Given the description of an element on the screen output the (x, y) to click on. 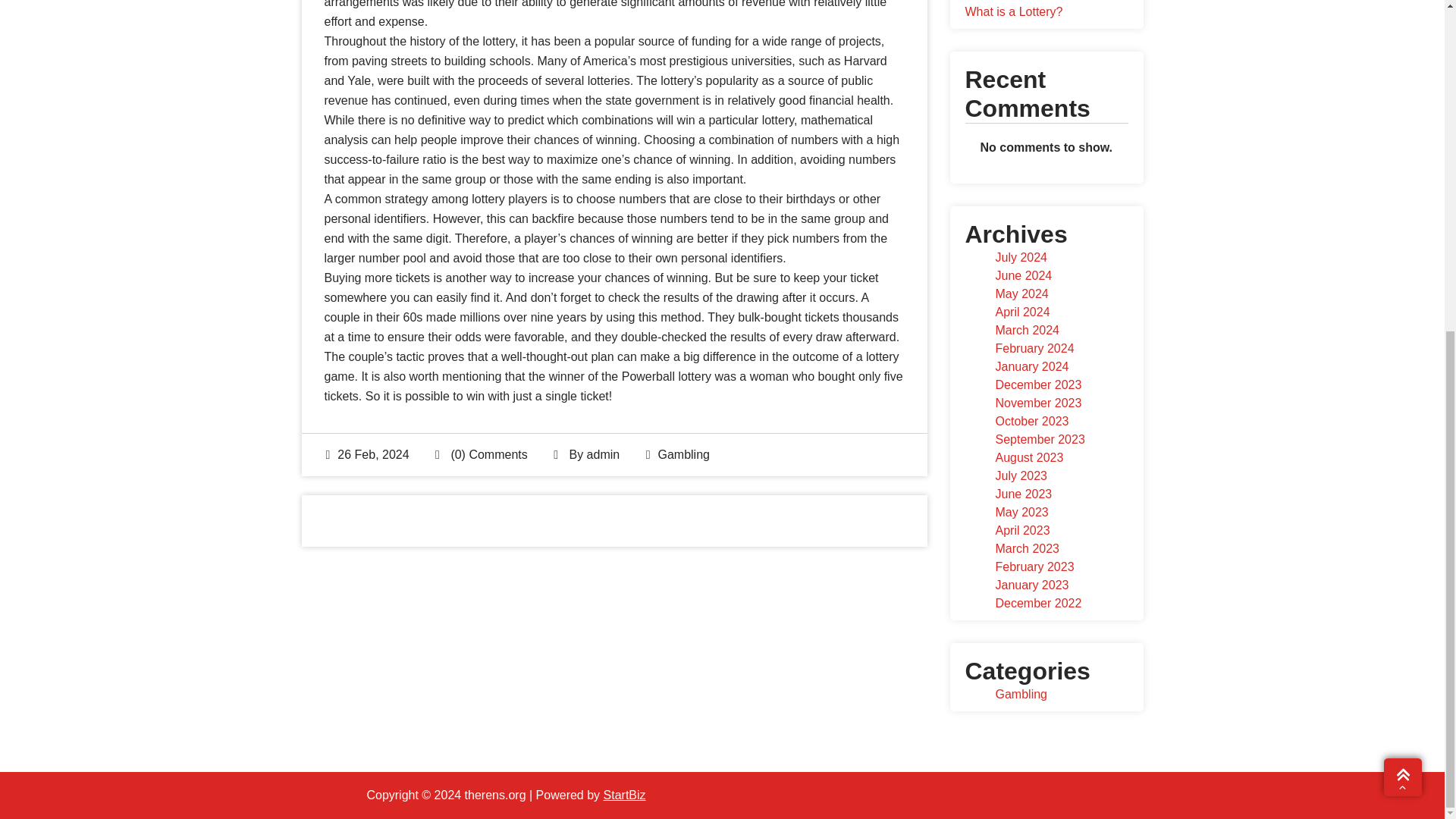
May 2024 (1021, 293)
May 2023 (1021, 512)
December 2023 (1037, 384)
November 2023 (1037, 402)
February 2023 (1034, 566)
26 Feb, 2024 (367, 454)
March 2024 (1026, 329)
February 2024 (1034, 348)
October 2023 (1031, 420)
January 2024 (1031, 366)
admin (603, 454)
Gambling (683, 454)
April 2024 (1021, 311)
June 2024 (1022, 275)
April 2023 (1021, 530)
